Given the description of an element on the screen output the (x, y) to click on. 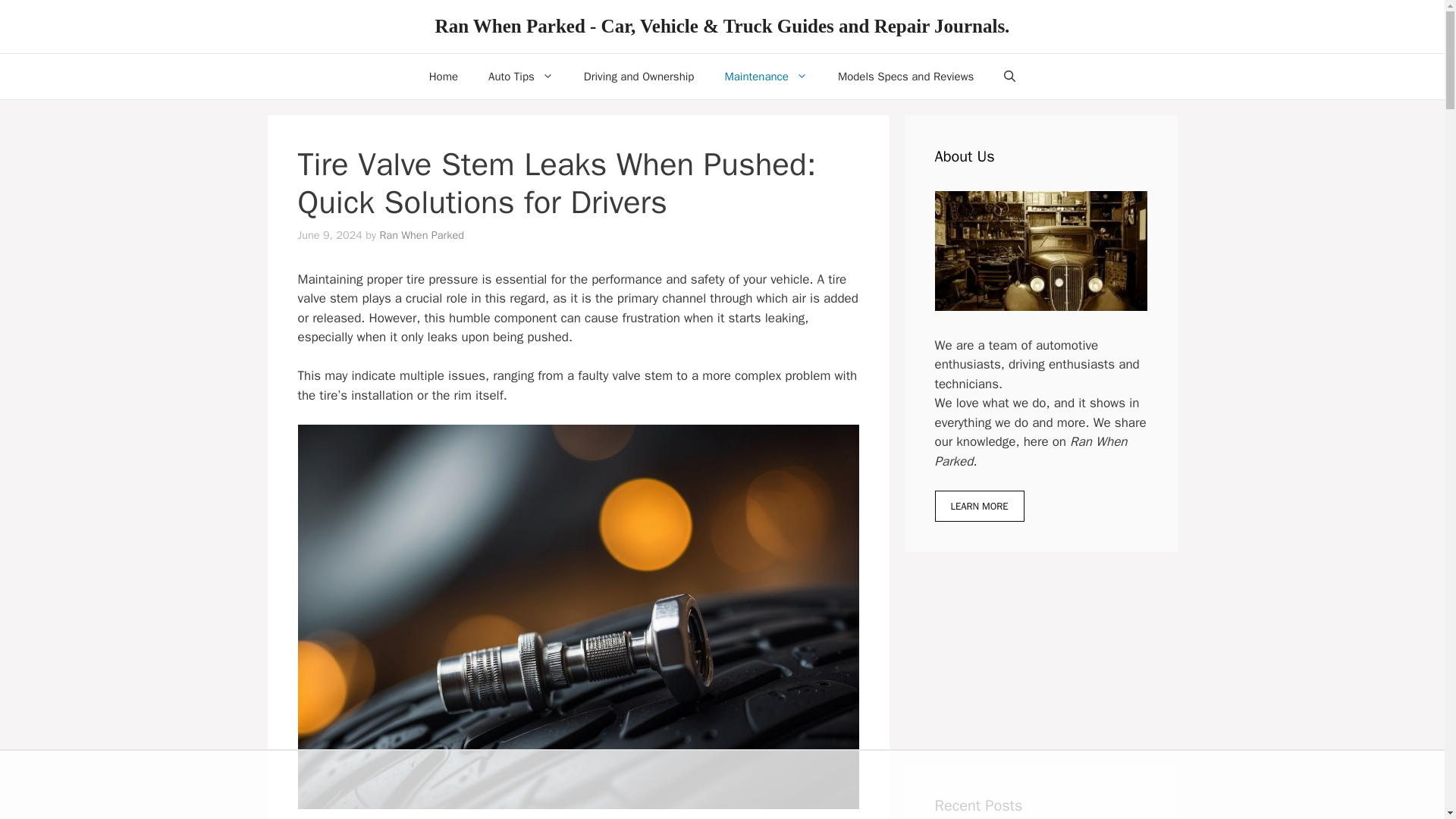
Home (443, 76)
View all posts by Ran When Parked (421, 234)
Ran When Parked (421, 234)
Driving and Ownership (639, 76)
Auto Tips (521, 76)
Maintenance (765, 76)
Models Specs and Reviews (905, 76)
